Given the description of an element on the screen output the (x, y) to click on. 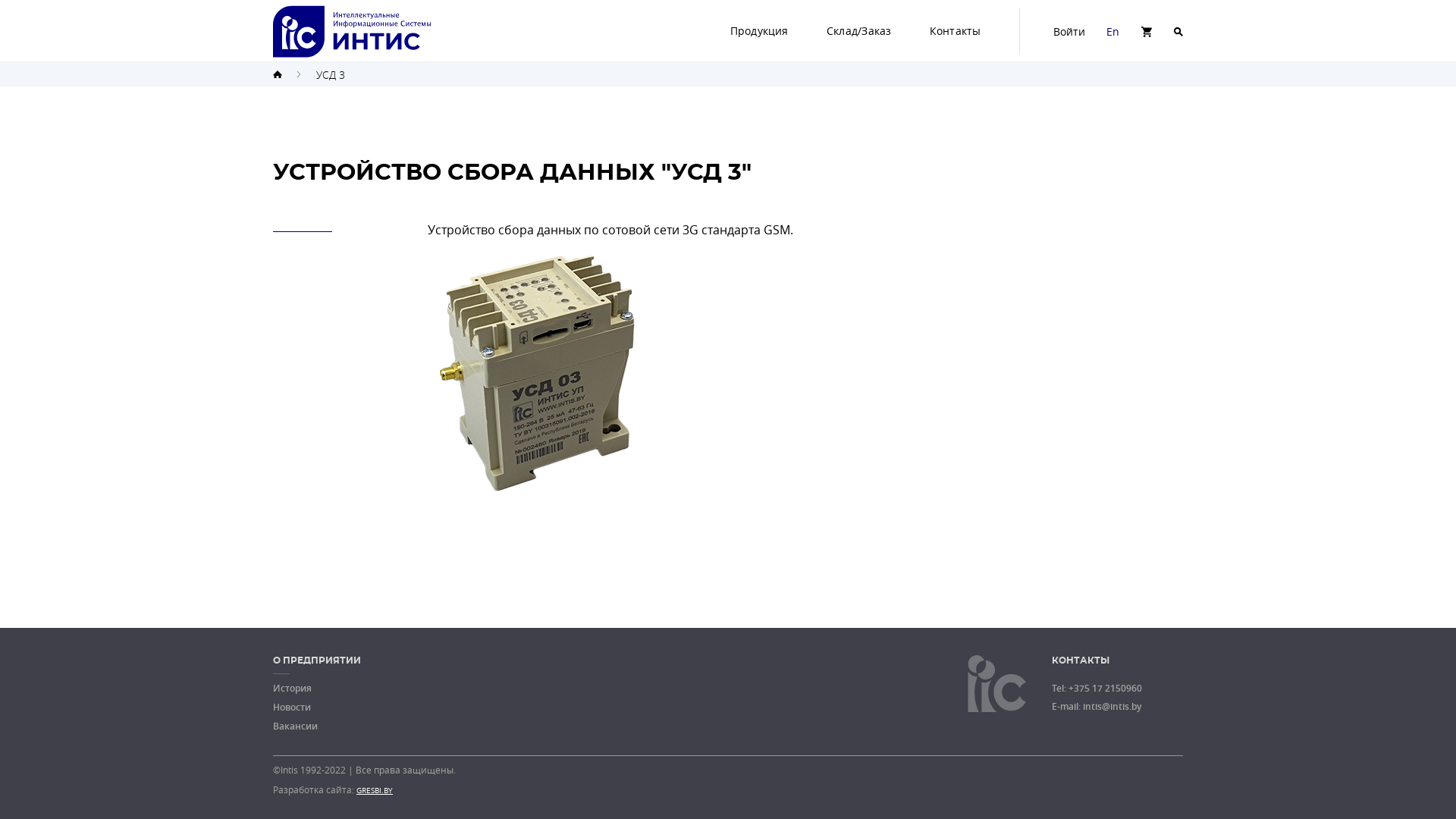
E-mail: intis@intis.by Element type: text (1096, 706)
GRESBI.BY Element type: text (374, 790)
Tel: +375 17 2150960 Element type: text (1096, 688)
En Element type: text (1112, 30)
